Given the description of an element on the screen output the (x, y) to click on. 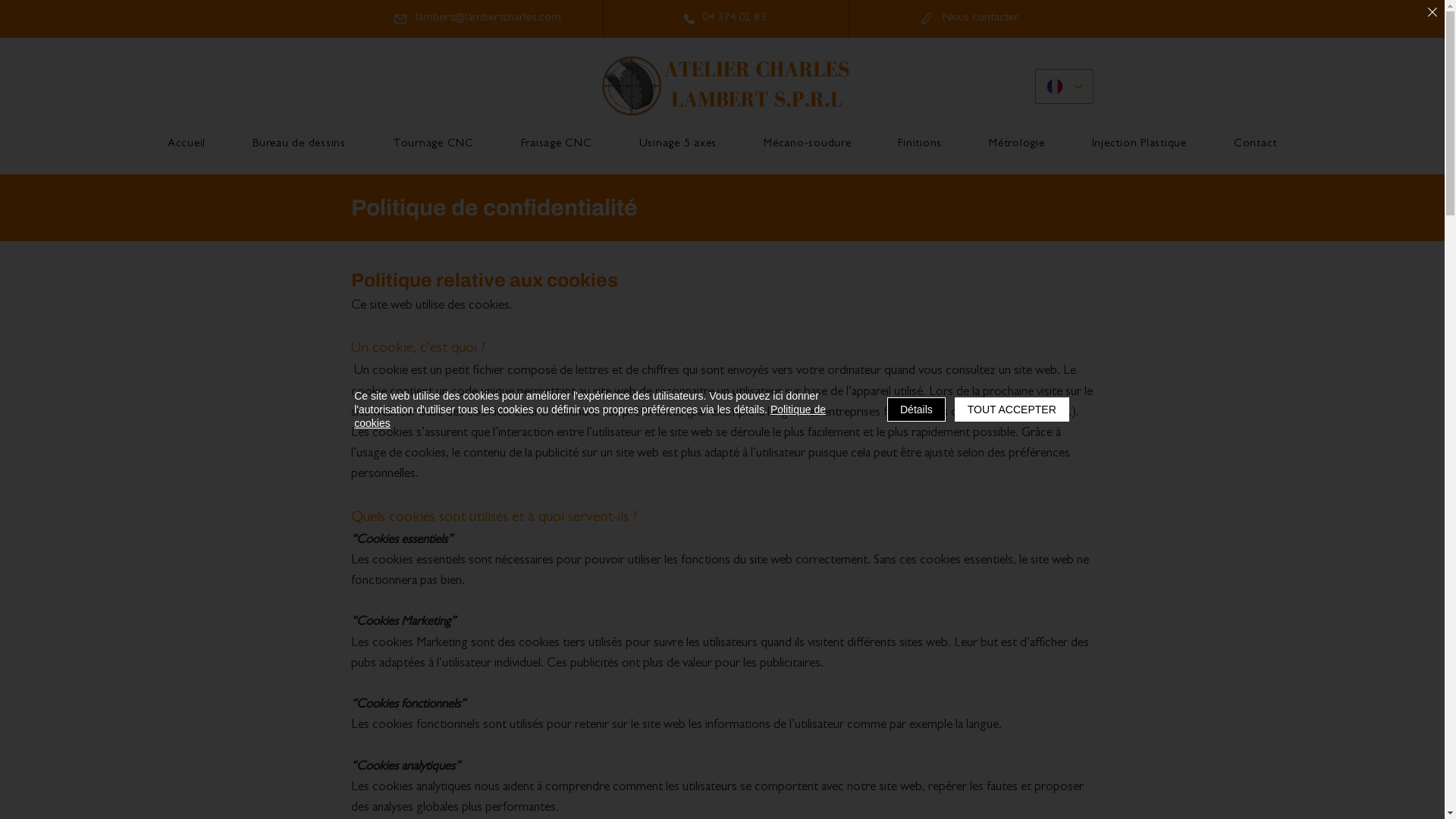
Fraisage CNC Element type: text (556, 144)
Bureau de dessins Element type: text (299, 144)
Contact Element type: text (1255, 144)
Finitions Element type: text (920, 144)
Accueil Element type: text (186, 144)
Usinage 5 axes Element type: text (677, 144)
lambert@lambertcharles.com Element type: text (476, 18)
Injection Plastique Element type: text (1139, 144)
Nous contacter Element type: text (969, 18)
Politique de cookies Element type: text (589, 416)
Tournage CNC Element type: text (433, 144)
TOUT ACCEPTER Element type: text (1011, 409)
04 374 02 83 Element type: text (724, 18)
